Given the description of an element on the screen output the (x, y) to click on. 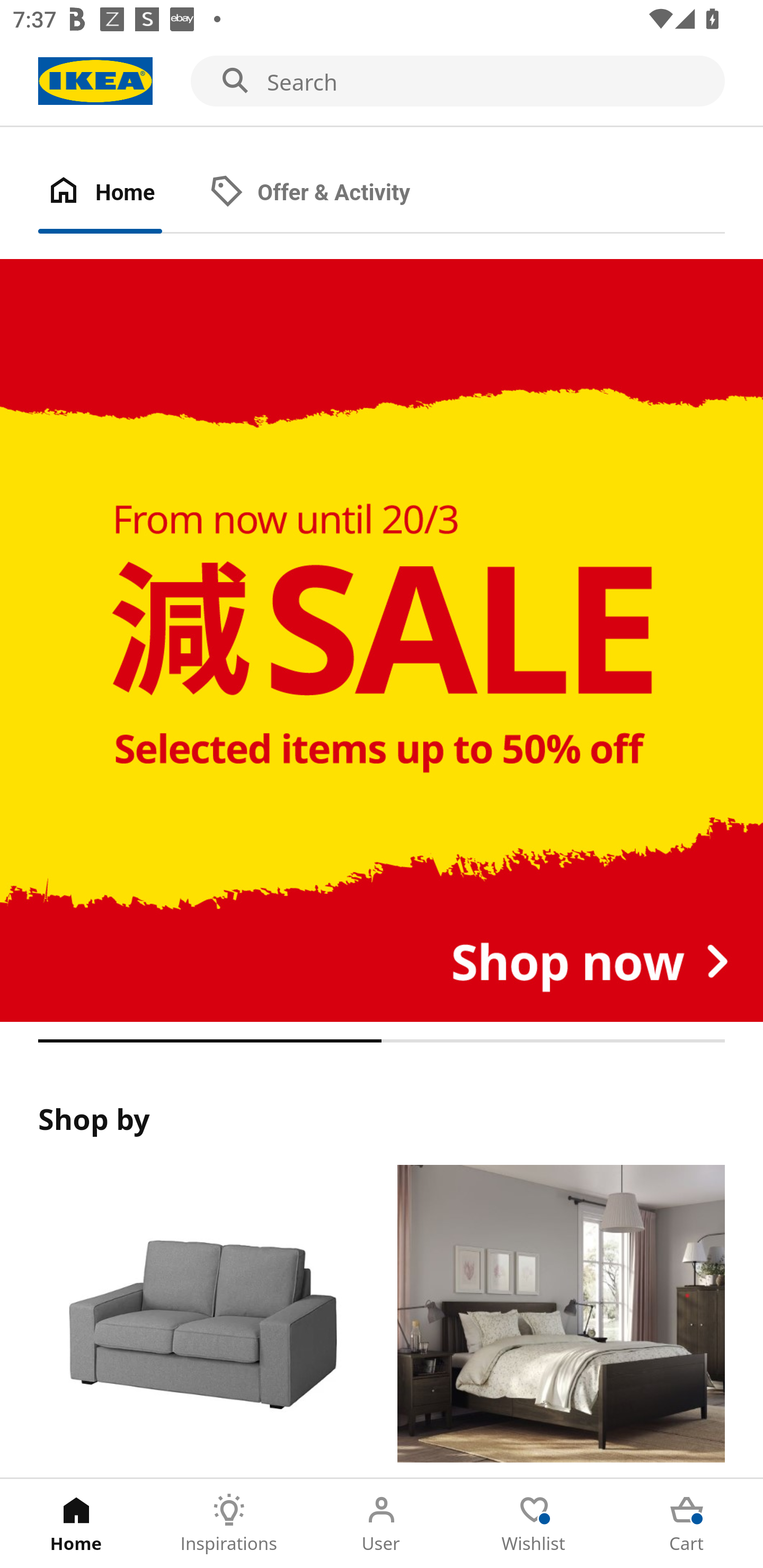
Search (381, 81)
Home
Tab 1 of 2 (118, 192)
Offer & Activity
Tab 2 of 2 (327, 192)
Products (201, 1321)
Rooms (560, 1321)
Home
Tab 1 of 5 (76, 1522)
Inspirations
Tab 2 of 5 (228, 1522)
User
Tab 3 of 5 (381, 1522)
Wishlist
Tab 4 of 5 (533, 1522)
Cart
Tab 5 of 5 (686, 1522)
